Given the description of an element on the screen output the (x, y) to click on. 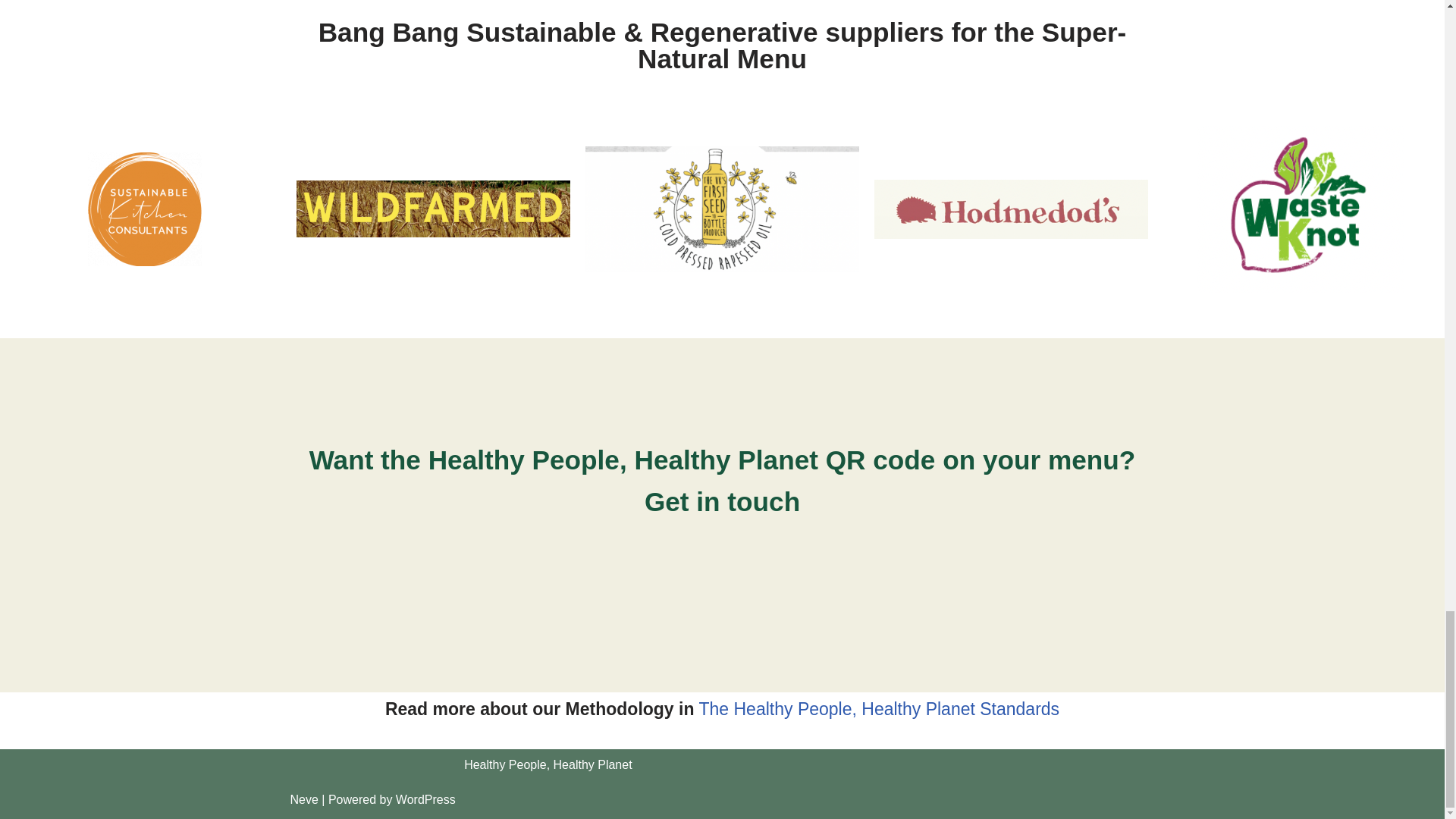
The Healthy People, Healthy Planet Standards (878, 709)
WordPress (425, 799)
Neve (303, 799)
